Given the description of an element on the screen output the (x, y) to click on. 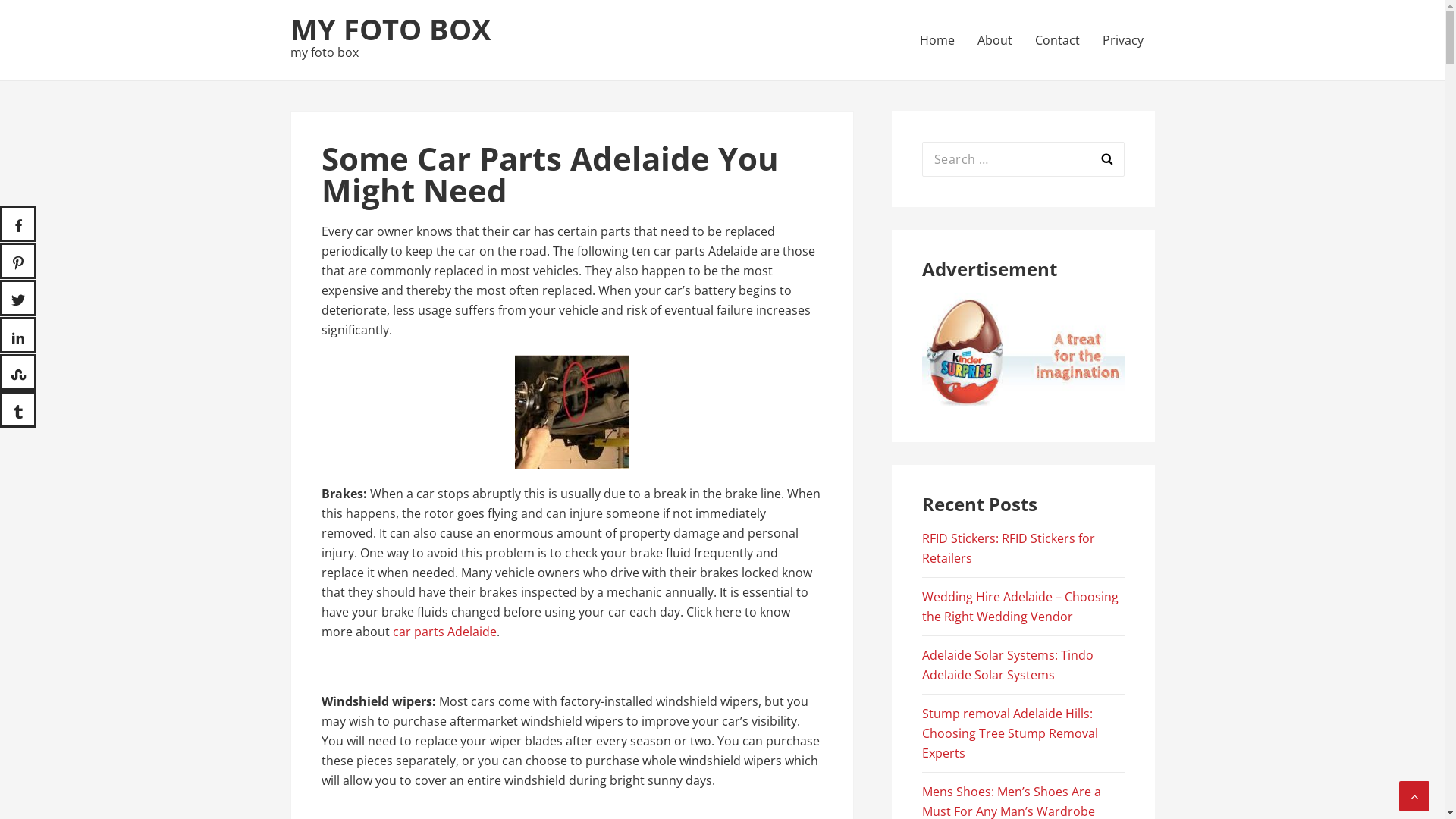
Home Element type: text (937, 40)
Search Element type: text (1105, 158)
About Element type: text (994, 40)
car parts Adelaide Element type: text (444, 631)
MY FOTO BOX Element type: text (389, 28)
Adelaide Solar Systems: Tindo Adelaide Solar Systems Element type: text (1007, 664)
Some Car Parts Adelaide You Might Need Element type: hover (571, 411)
Privacy Element type: text (1122, 40)
RFID Stickers: RFID Stickers for Retailers Element type: text (1008, 548)
Contact Element type: text (1057, 40)
Some Car Parts Adelaide You Might Need Element type: hover (1023, 349)
